Given the description of an element on the screen output the (x, y) to click on. 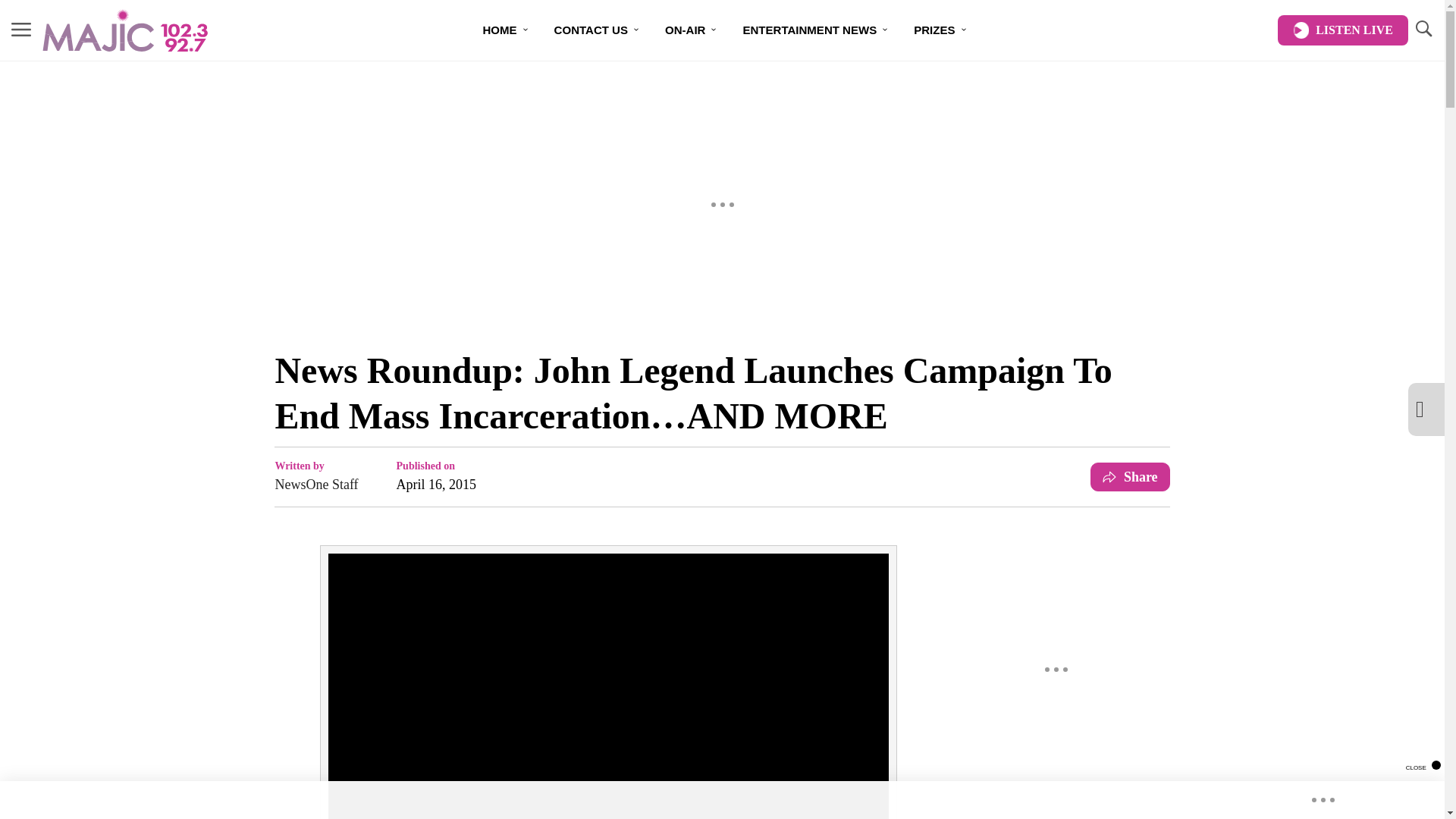
TOGGLE SEARCH (1422, 28)
TOGGLE SEARCH (1422, 30)
ENTERTAINMENT NEWS (815, 30)
CONTACT US (596, 30)
MENU (20, 29)
ON-AIR (691, 30)
LISTEN LIVE (1342, 30)
HOME (505, 30)
PRIZES (940, 30)
MENU (20, 30)
